Given the description of an element on the screen output the (x, y) to click on. 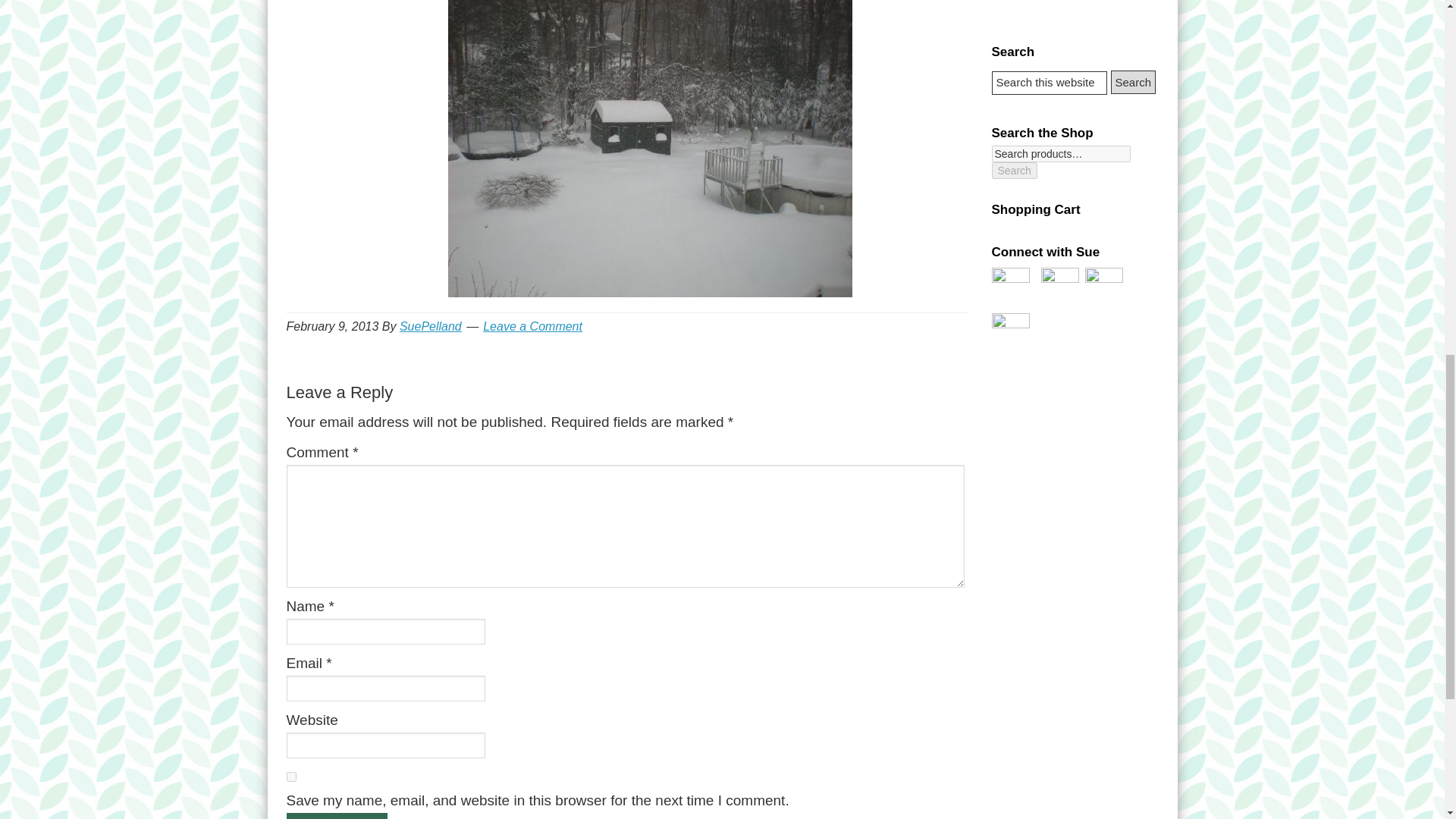
DSCN5984 (649, 148)
yes (291, 777)
Search (1132, 82)
Post Comment (337, 816)
Search (1132, 82)
